Given the description of an element on the screen output the (x, y) to click on. 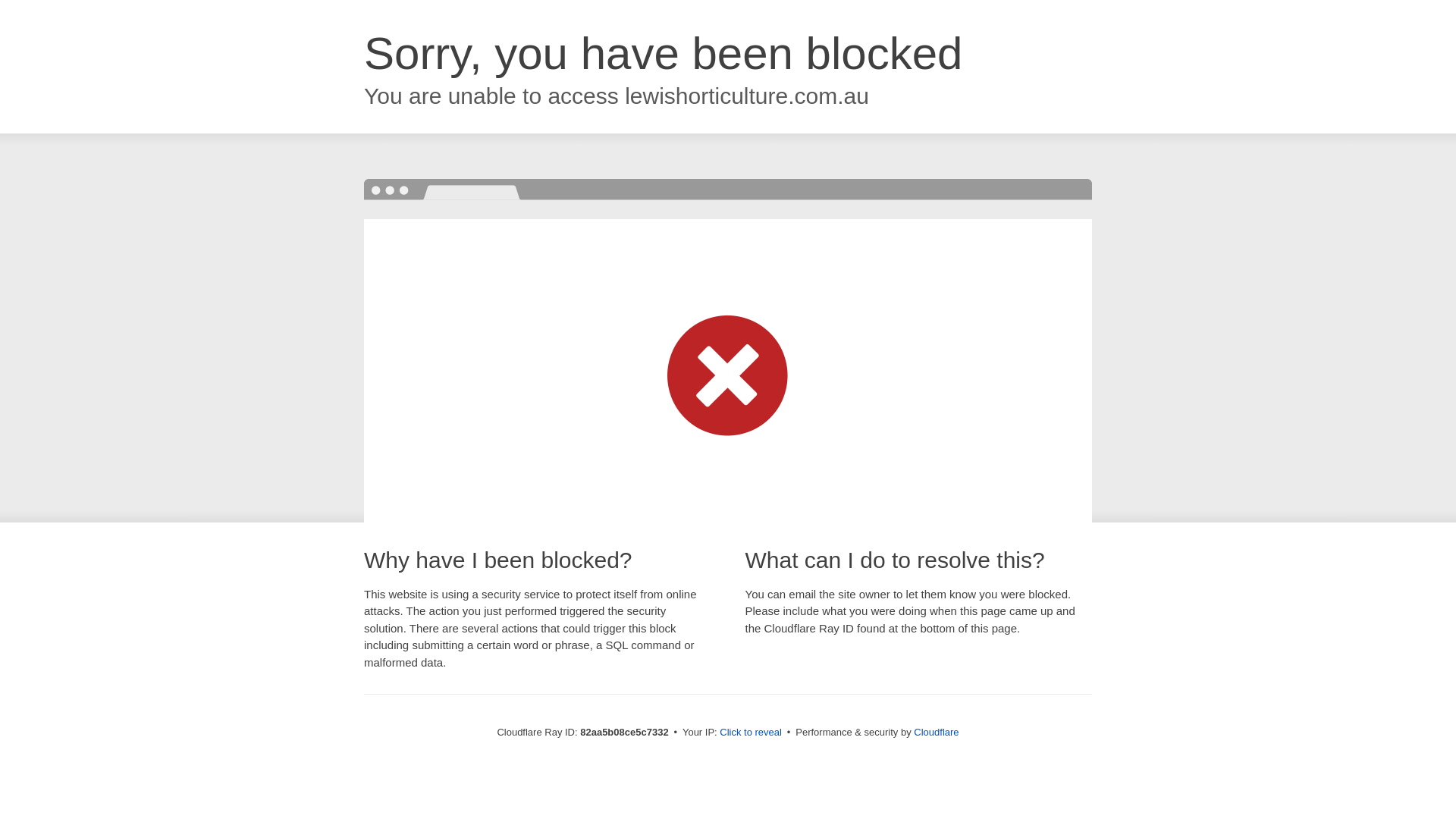
Cloudflare Element type: text (935, 731)
Click to reveal Element type: text (750, 732)
